Given the description of an element on the screen output the (x, y) to click on. 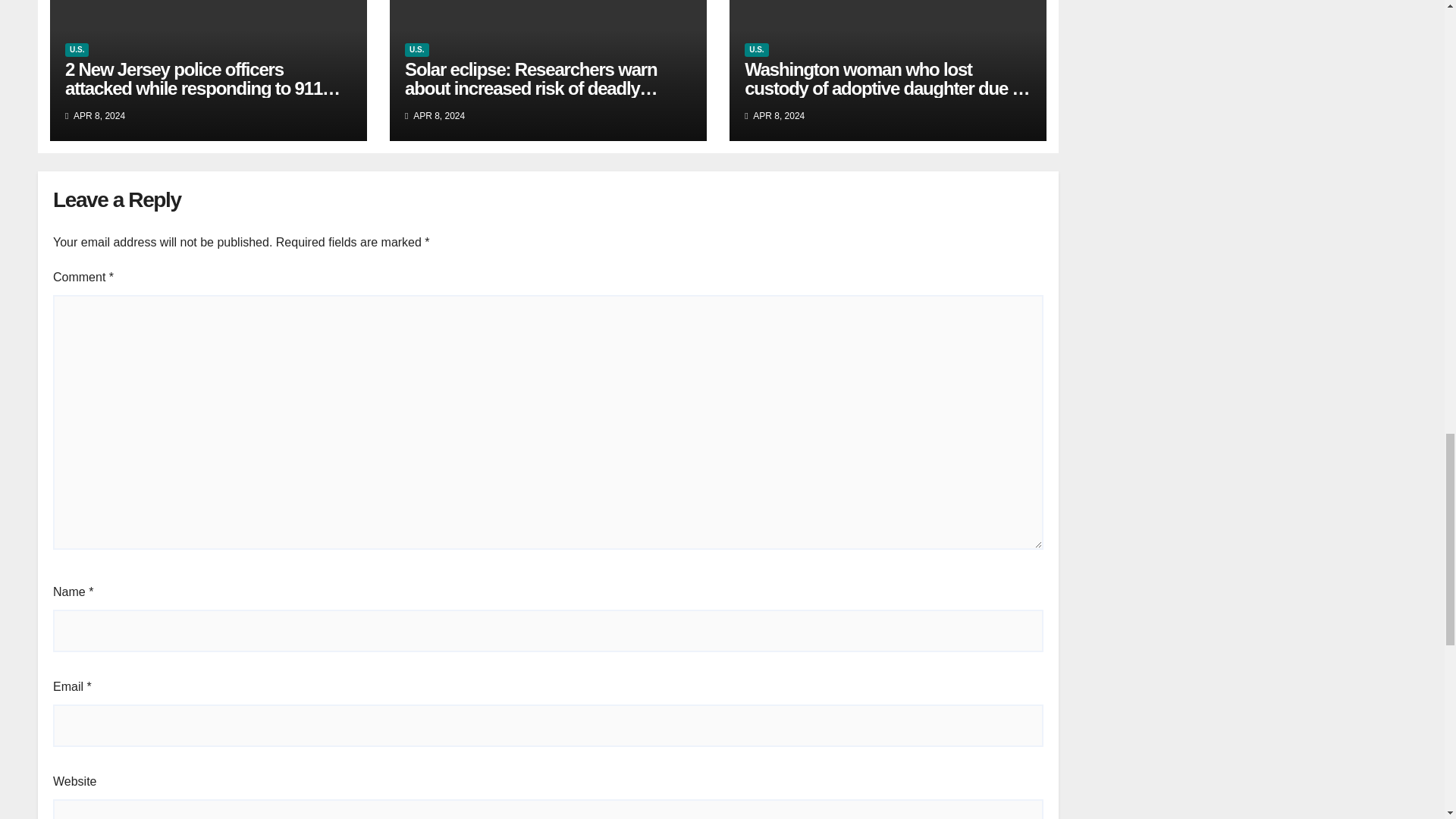
U.S. (76, 49)
U.S. (416, 49)
U.S. (756, 49)
